Given the description of an element on the screen output the (x, y) to click on. 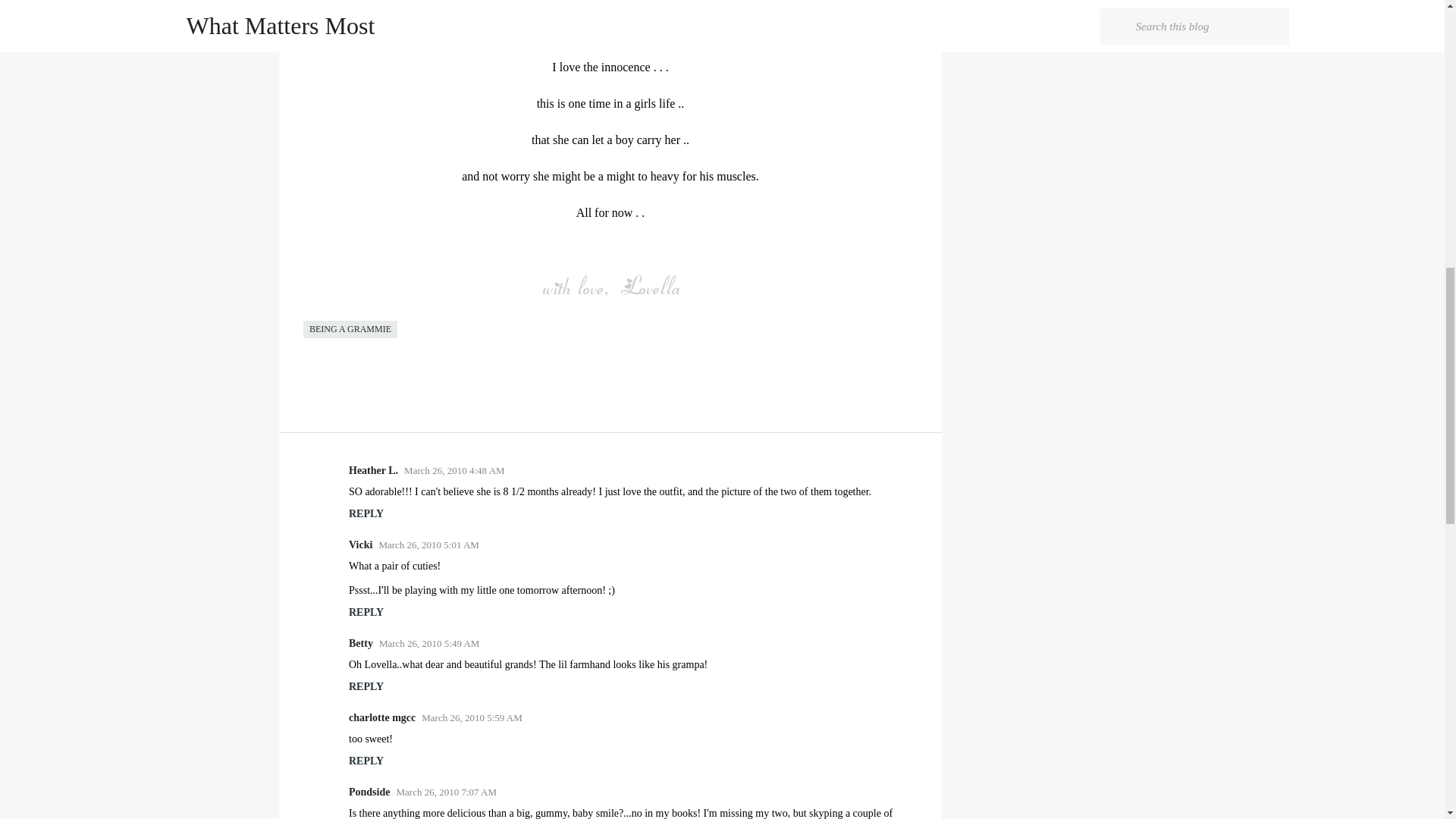
BEING A GRAMMIE (349, 329)
Heather L. (373, 470)
March 26, 2010 5:59 AM (472, 717)
REPLY (366, 686)
March 26, 2010 5:49 AM (429, 643)
March 26, 2010 4:48 AM (454, 470)
REPLY (366, 760)
Vicki (360, 544)
REPLY (366, 612)
charlotte mgcc (381, 717)
